Given the description of an element on the screen output the (x, y) to click on. 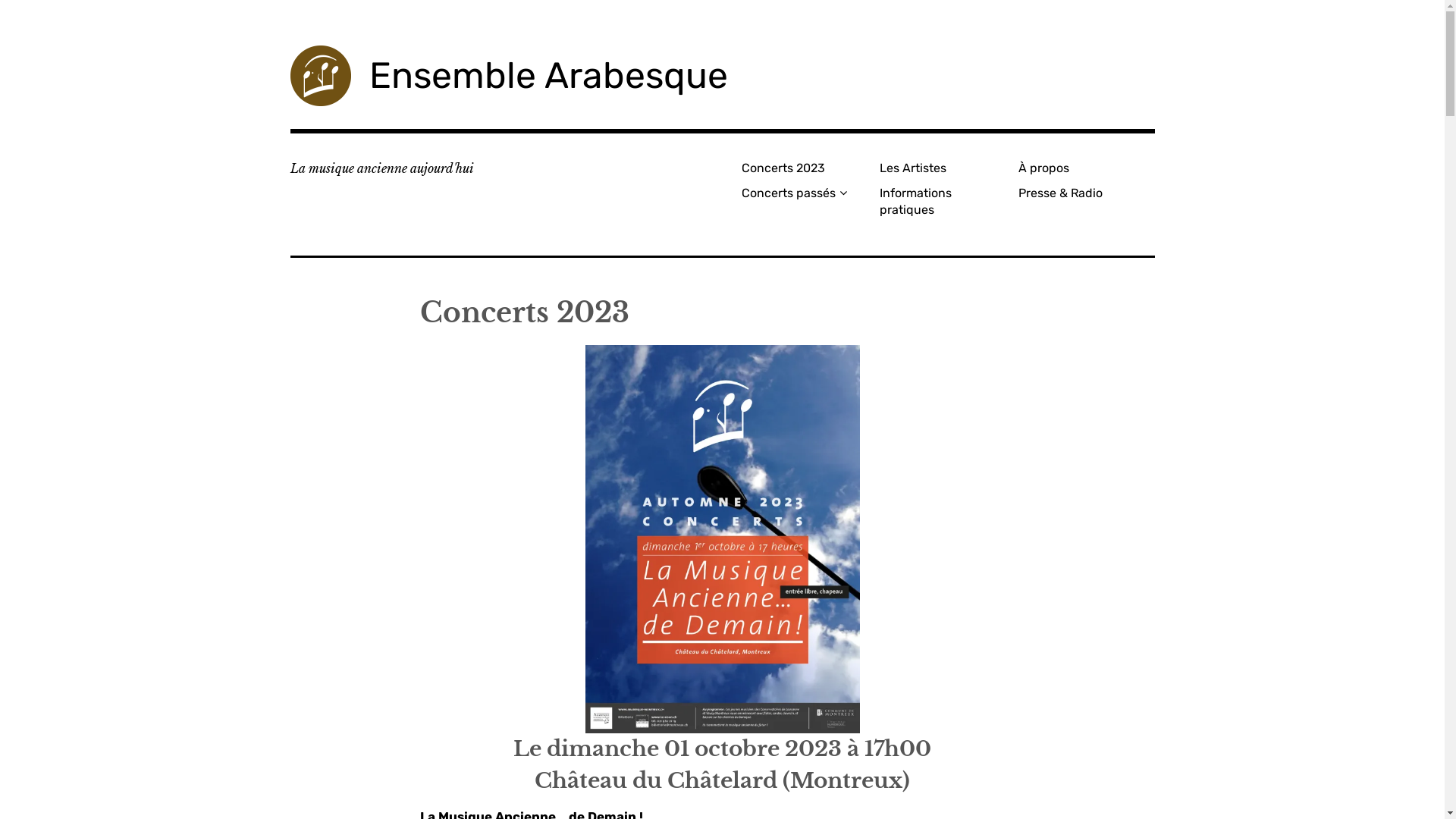
Ensemble Arabesque Element type: text (547, 75)
Concerts 2023 Element type: text (804, 167)
Informations pratiques Element type: text (942, 201)
Presse & Radio Element type: text (1081, 192)
Les Artistes Element type: text (942, 167)
